Given the description of an element on the screen output the (x, y) to click on. 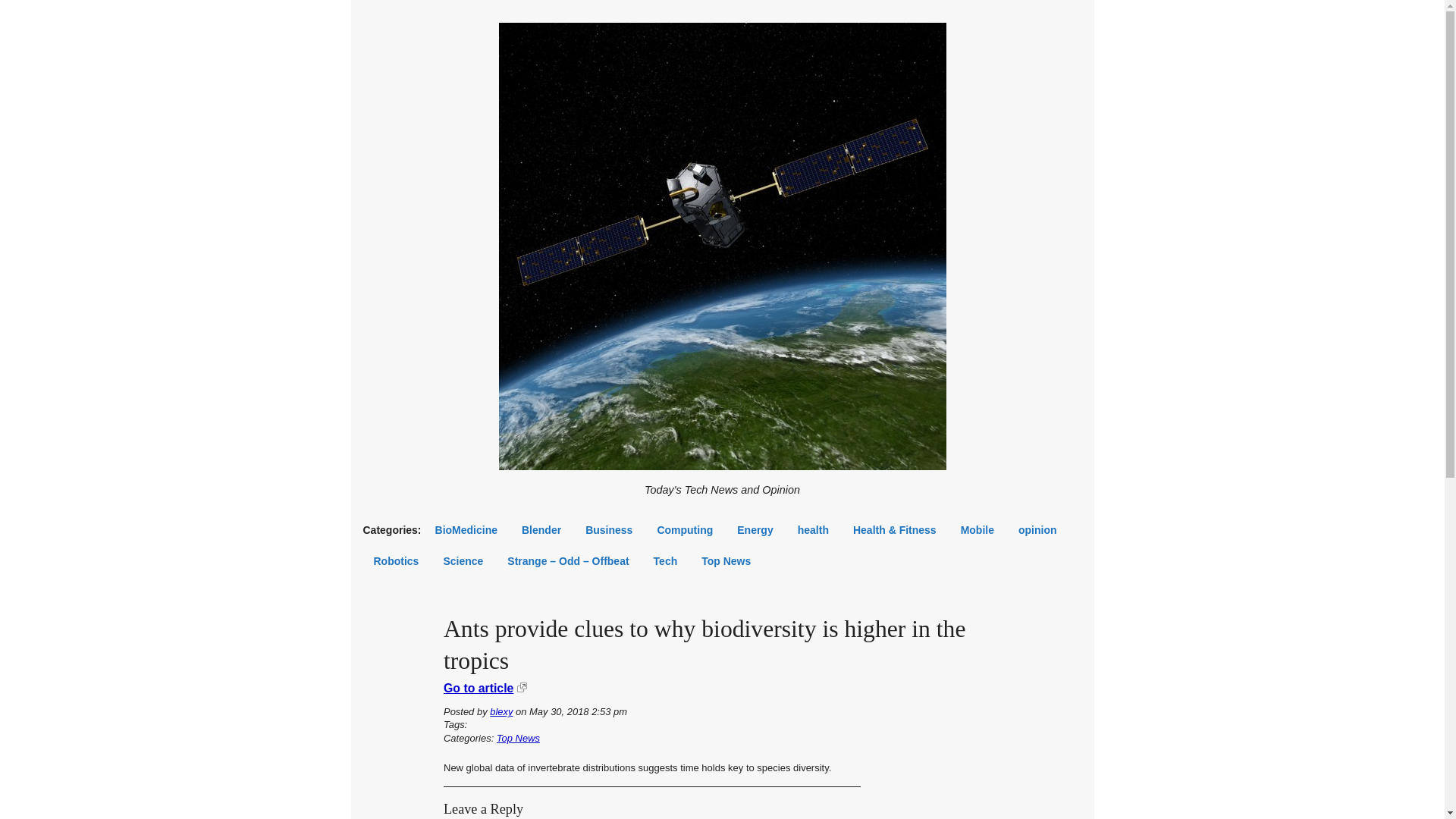
Tech (665, 560)
Mobile (977, 530)
Robotics (395, 560)
opinion (1037, 530)
health (813, 530)
Business (609, 530)
Science (462, 560)
Energy (754, 530)
blexy (500, 711)
Blender (541, 530)
BioMedicine (466, 530)
Go to article (478, 687)
Top News (518, 737)
Computing (684, 530)
Top News (725, 560)
